Given the description of an element on the screen output the (x, y) to click on. 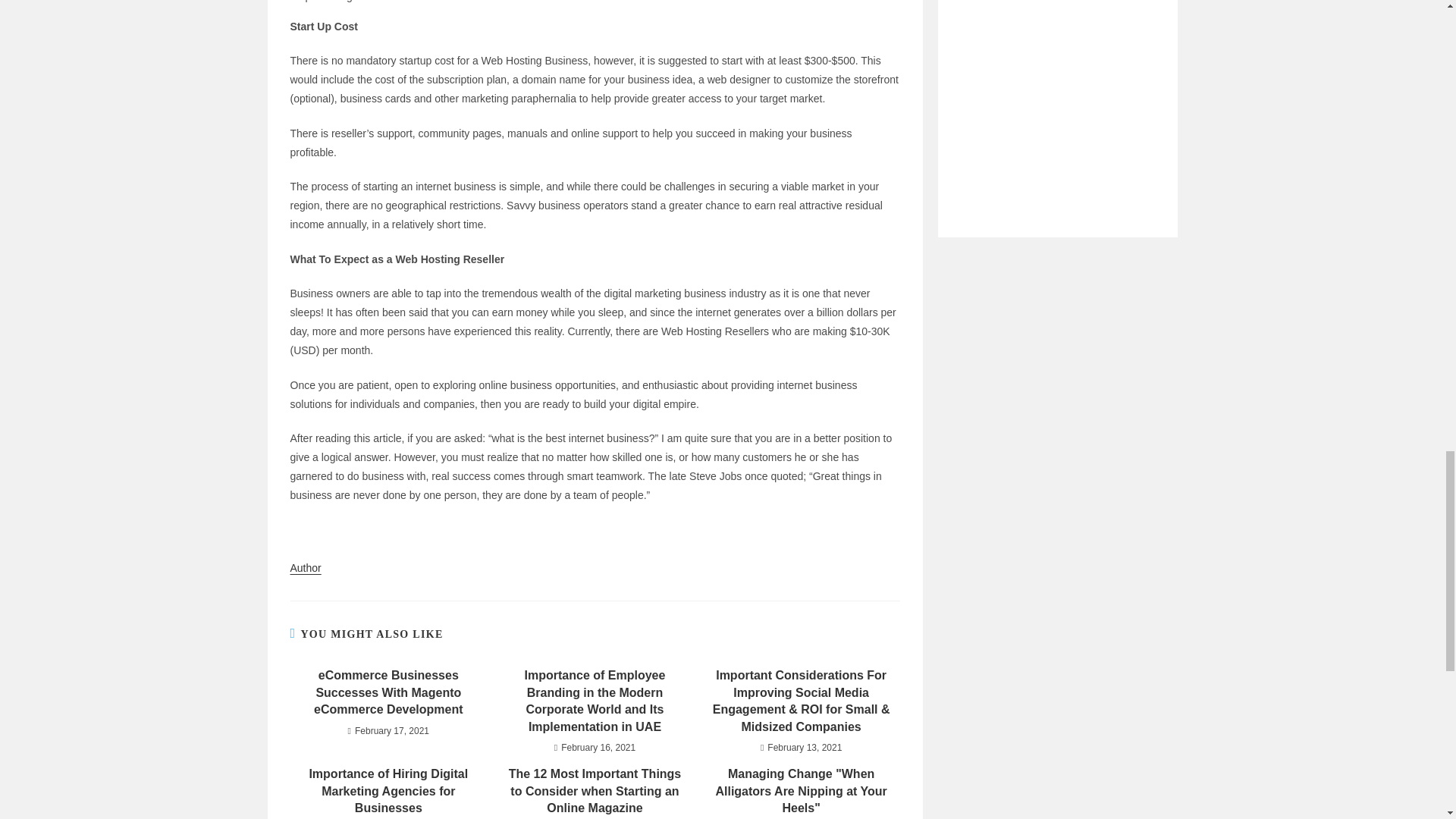
Author (304, 567)
Managing Change "When Alligators Are Nipping at Your Heels" (801, 790)
Advertisement (1056, 96)
